Given the description of an element on the screen output the (x, y) to click on. 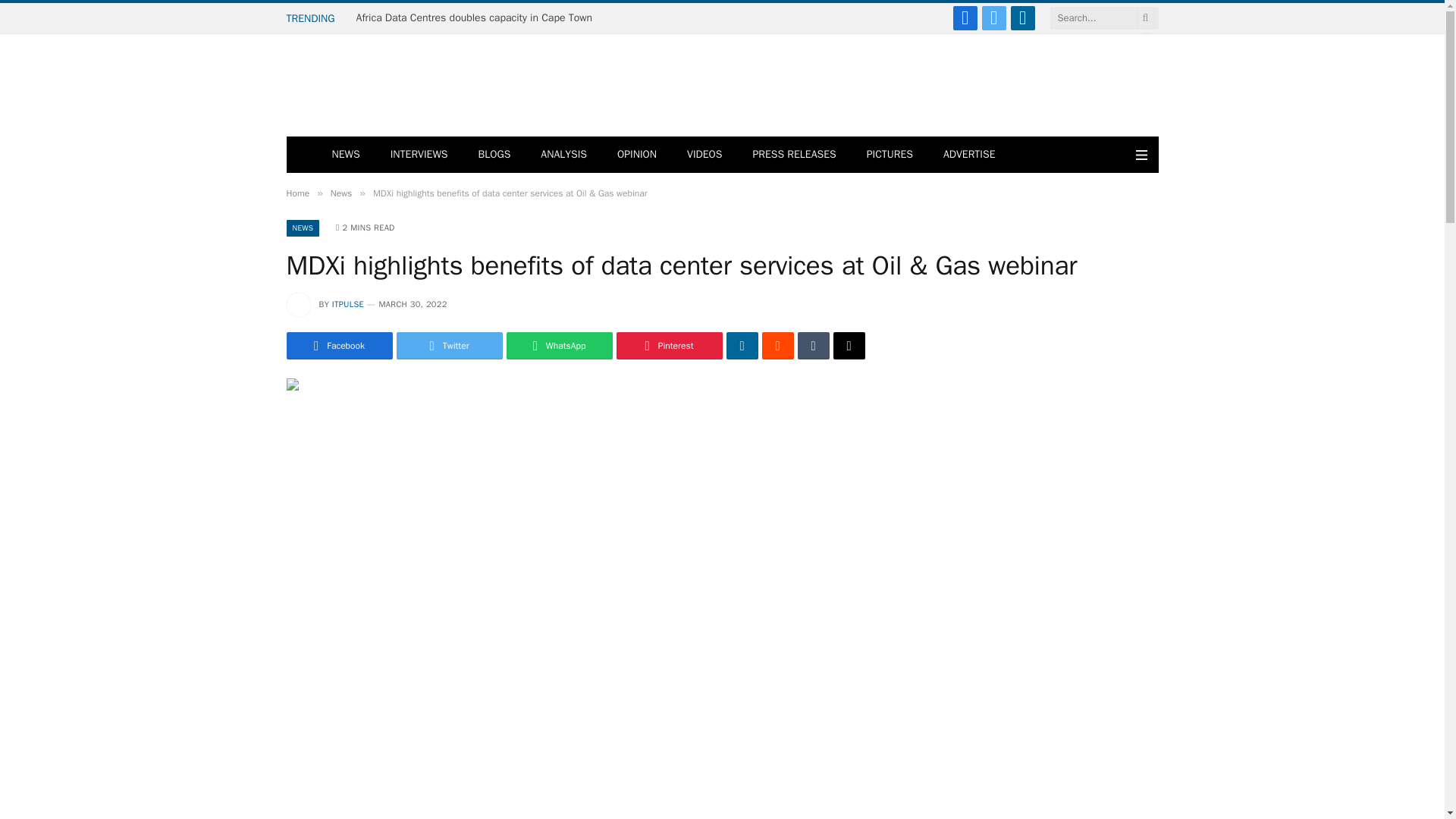
ITPulse.com.ng (395, 84)
VIDEOS (703, 154)
Africa Data Centres doubles capacity in Cape Town (477, 18)
LinkedIn (1021, 17)
ADVERTISE (969, 154)
Share on WhatsApp (559, 345)
Share on Pinterest (668, 345)
Share on Tumblr (813, 345)
BLOGS (494, 154)
PICTURES (889, 154)
ANALYSIS (563, 154)
Share via Email (848, 345)
Share on Reddit (777, 345)
Share on LinkedIn (742, 345)
Share on Facebook (339, 345)
